Given the description of an element on the screen output the (x, y) to click on. 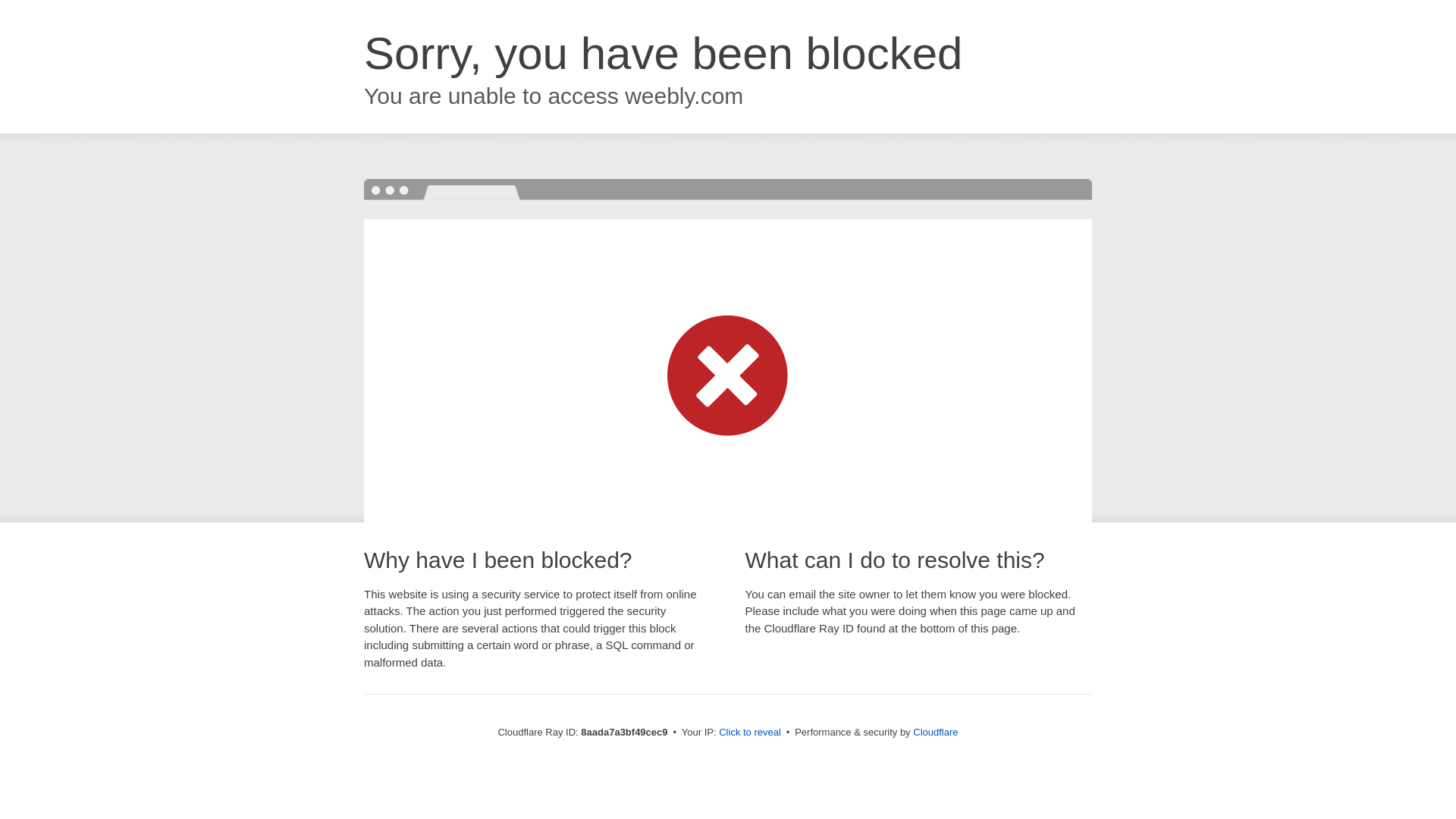
Click to reveal (749, 732)
Cloudflare (935, 731)
